Given the description of an element on the screen output the (x, y) to click on. 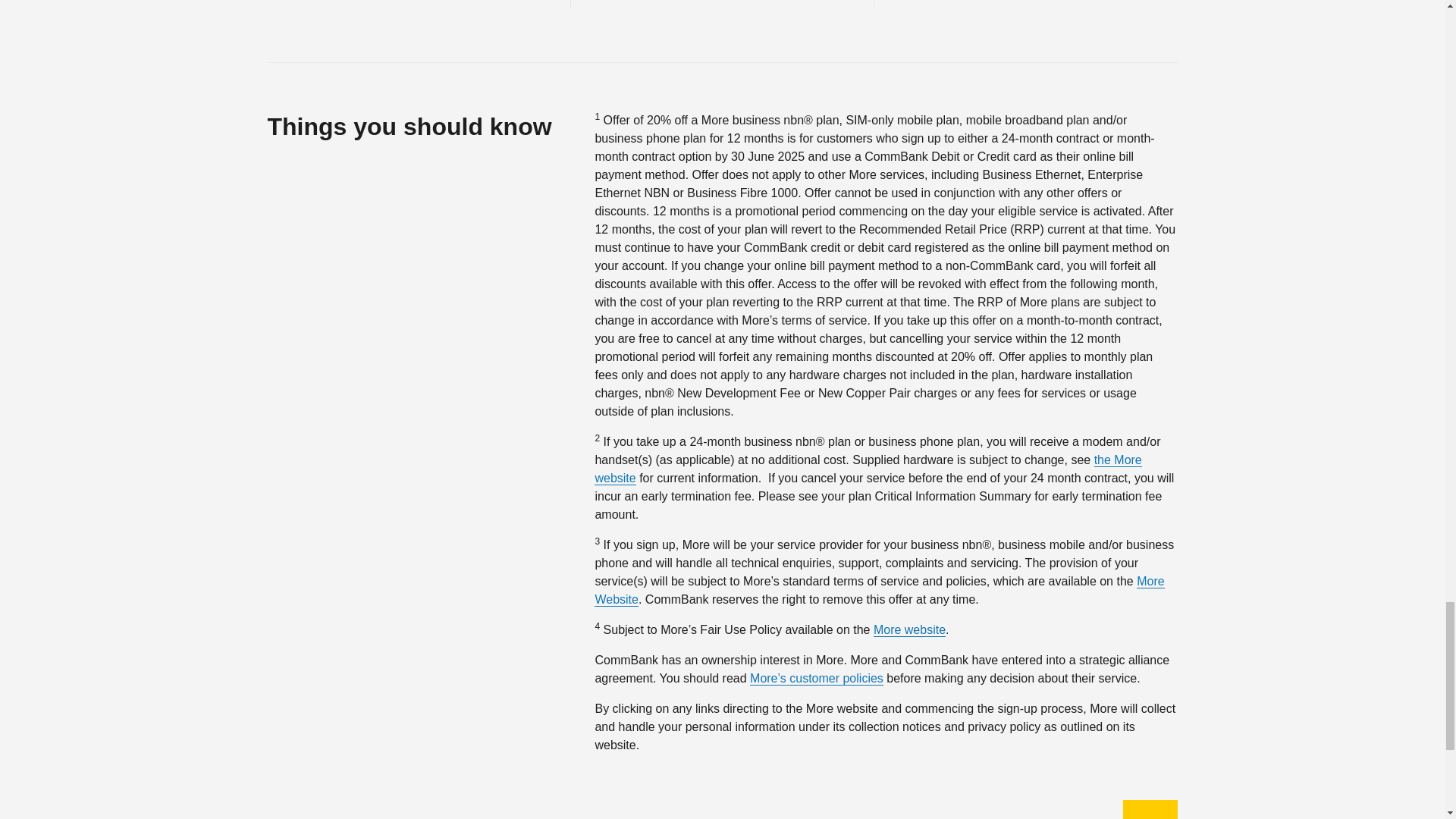
Contact us (721, 4)
Back to top (1149, 809)
Your questions answered (417, 4)
Visit your nearest branch (1025, 4)
